Given the description of an element on the screen output the (x, y) to click on. 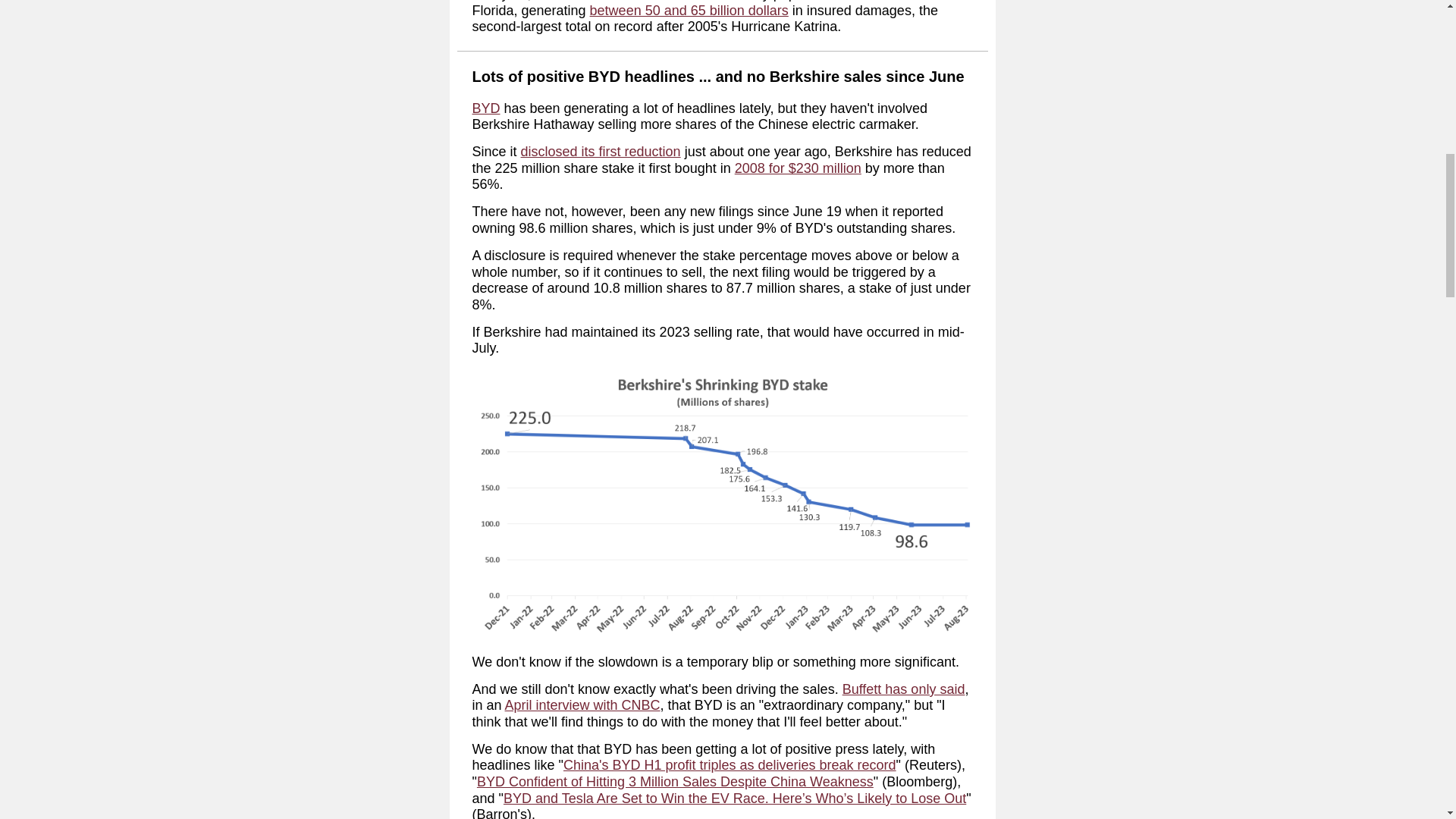
between 50 and 65 billion dollars (689, 10)
April interview with CNBC (583, 704)
China's BYD H1 profit triples as deliveries break record (729, 765)
Buffett has only said (904, 688)
disclosed its first reduction (601, 151)
BYD (485, 108)
